Given the description of an element on the screen output the (x, y) to click on. 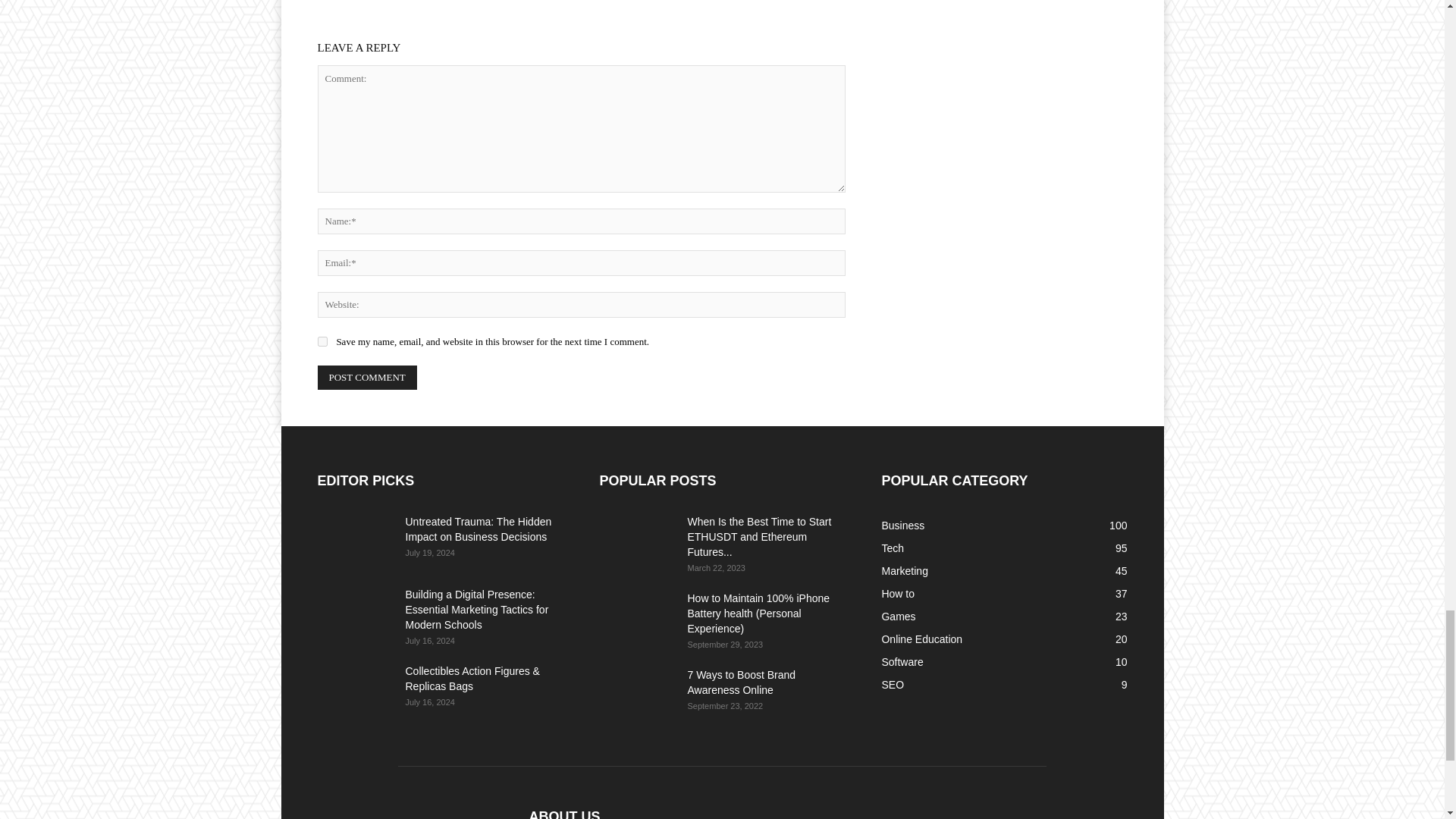
yes (321, 341)
Post Comment (366, 377)
